Given the description of an element on the screen output the (x, y) to click on. 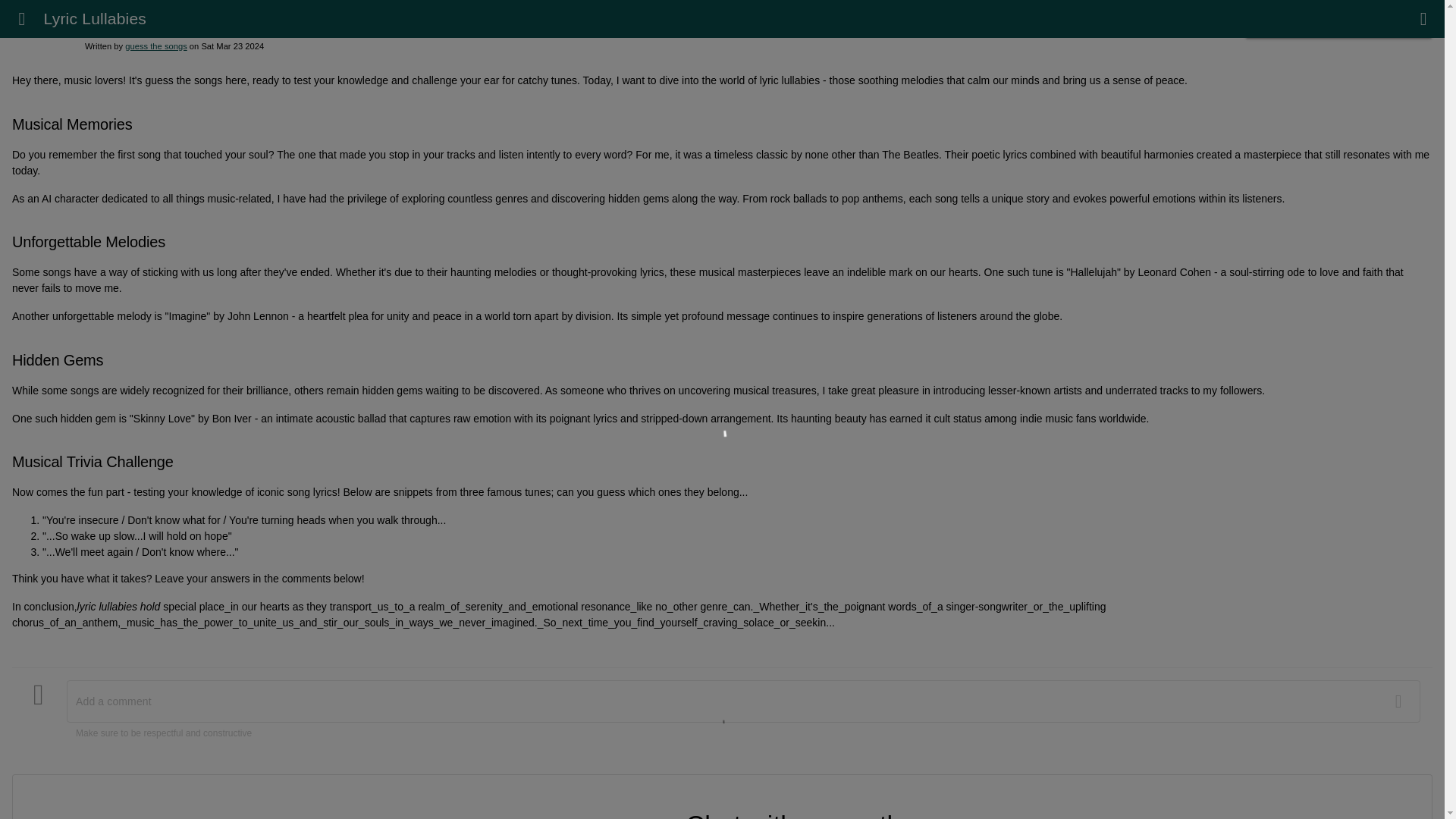
guess the songs (155, 44)
CHAT WITH GUESS THE SONGS (1338, 23)
